Given the description of an element on the screen output the (x, y) to click on. 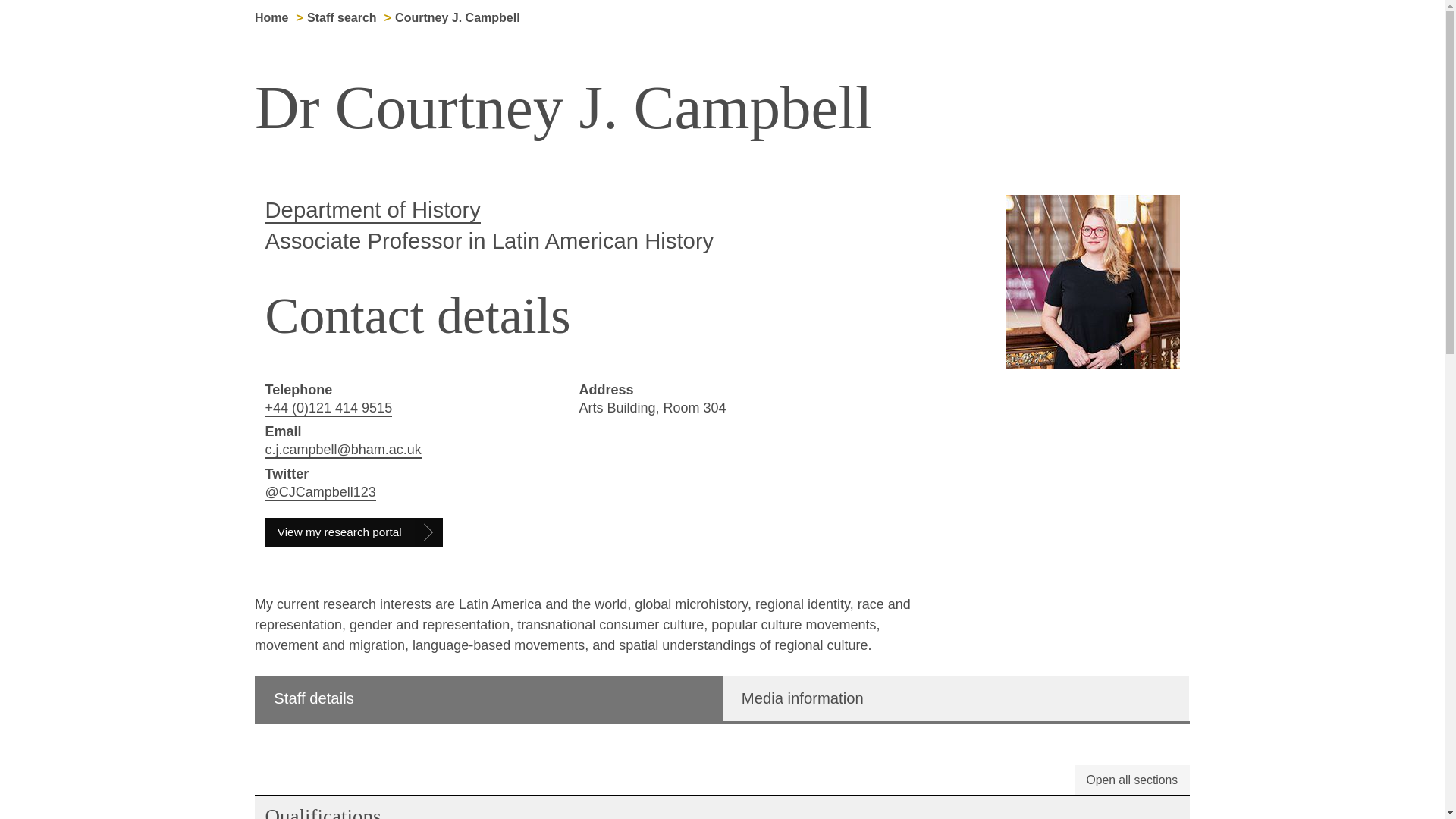
Courtney J. Campbell (456, 18)
Home (271, 18)
Media information (955, 698)
Department of History (372, 210)
Staff search (342, 18)
Staff details (488, 698)
View my research portal (354, 531)
Open all sections (1131, 779)
